Given the description of an element on the screen output the (x, y) to click on. 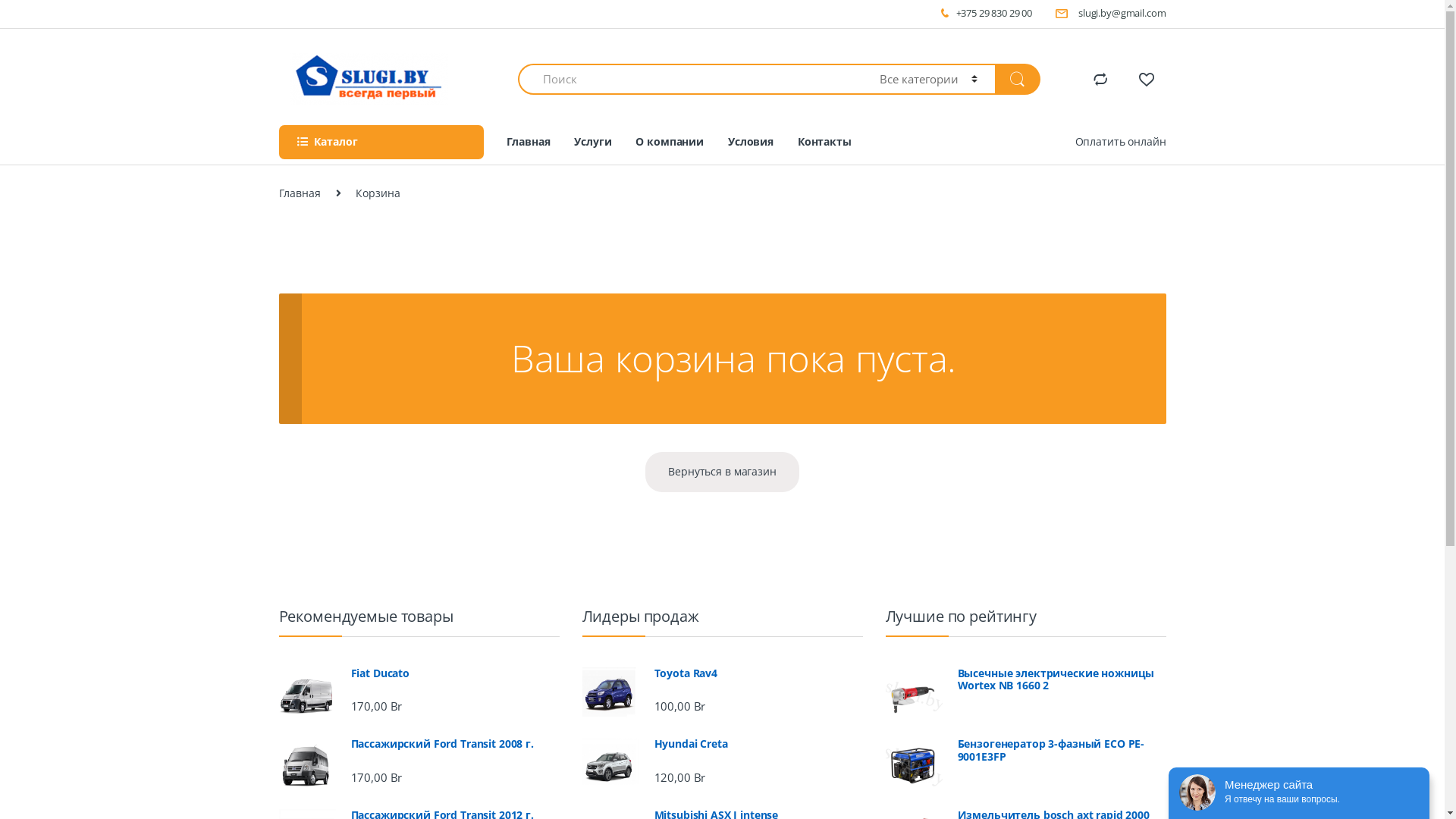
Hyundai Creta Element type: text (722, 743)
+375 29 830 29 00 Element type: text (985, 13)
Fiat Ducato Element type: text (419, 673)
slugi.by@gmail.com Element type: text (1109, 13)
Toyota Rav4 Element type: text (722, 673)
